Given the description of an element on the screen output the (x, y) to click on. 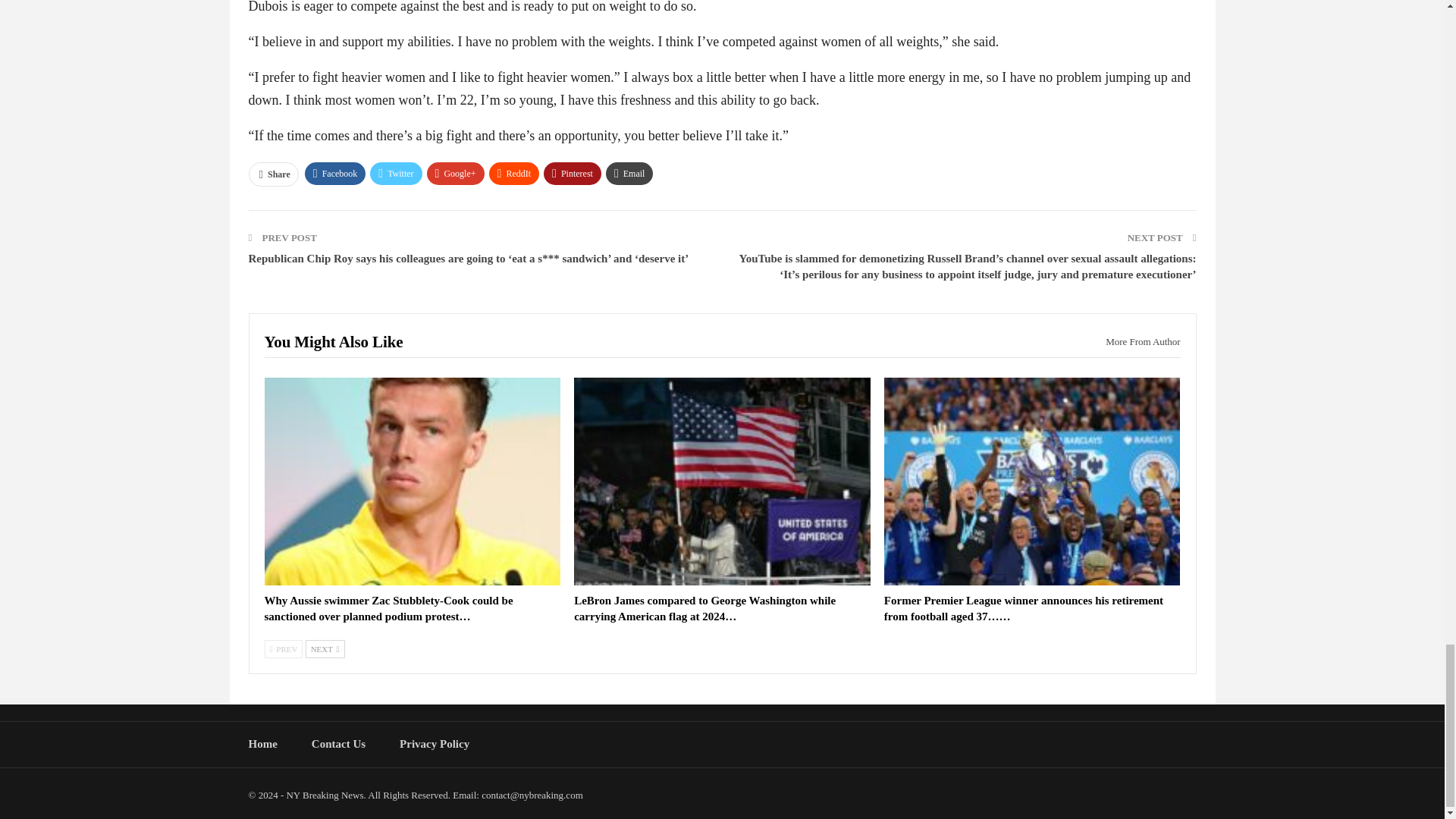
ReddIt (514, 173)
Pinterest (572, 173)
Facebook (335, 173)
Twitter (395, 173)
Email (629, 173)
